Given the description of an element on the screen output the (x, y) to click on. 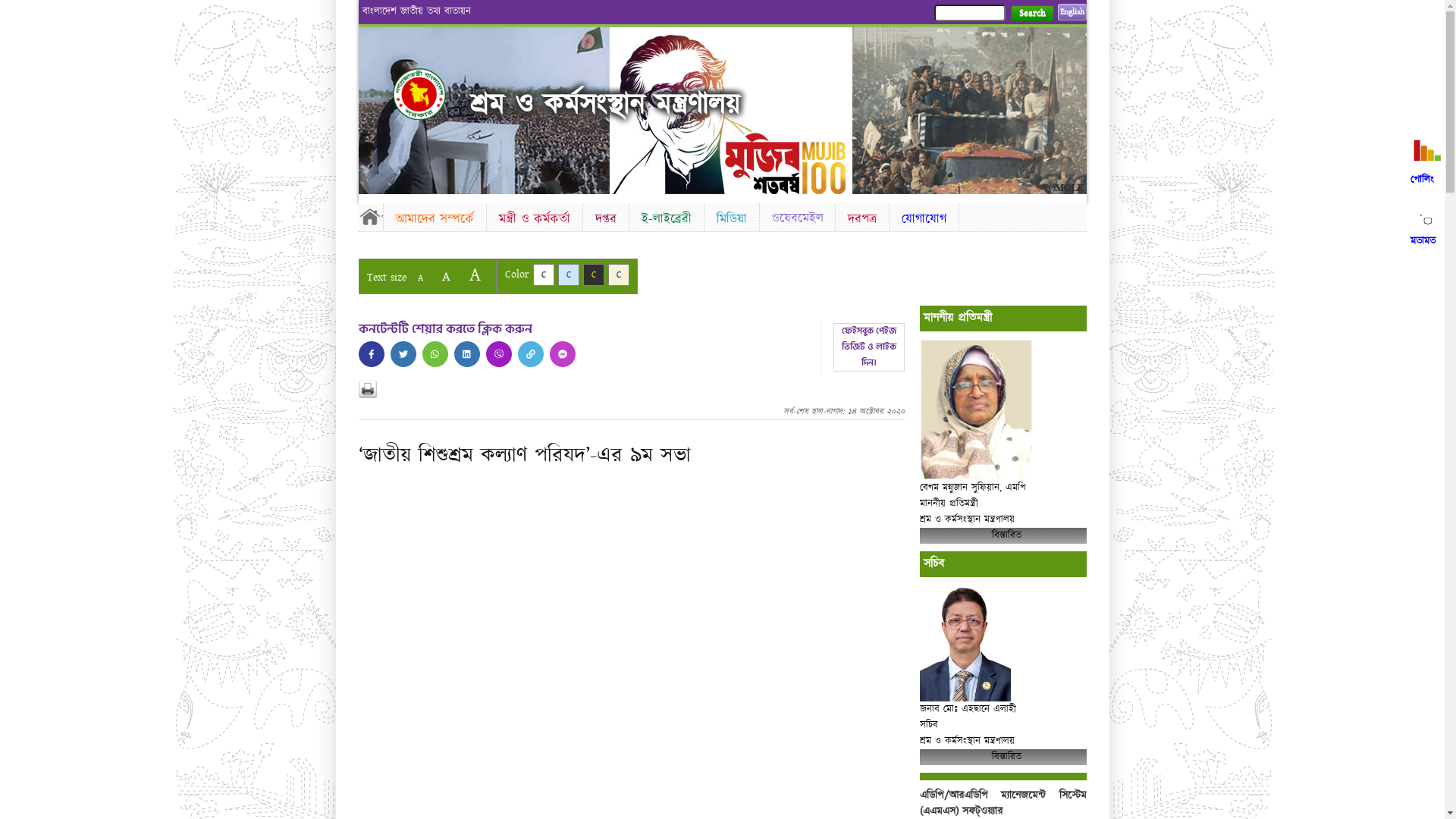
English Element type: text (1071, 11)
Search Element type: text (1031, 13)
C Element type: text (542, 274)
A Element type: text (474, 274)
A Element type: text (445, 276)
C Element type: text (592, 274)
Home Element type: hover (431, 93)
Home Element type: hover (369, 216)
C Element type: text (618, 274)
A Element type: text (419, 277)
C Element type: text (568, 274)
